Given the description of an element on the screen output the (x, y) to click on. 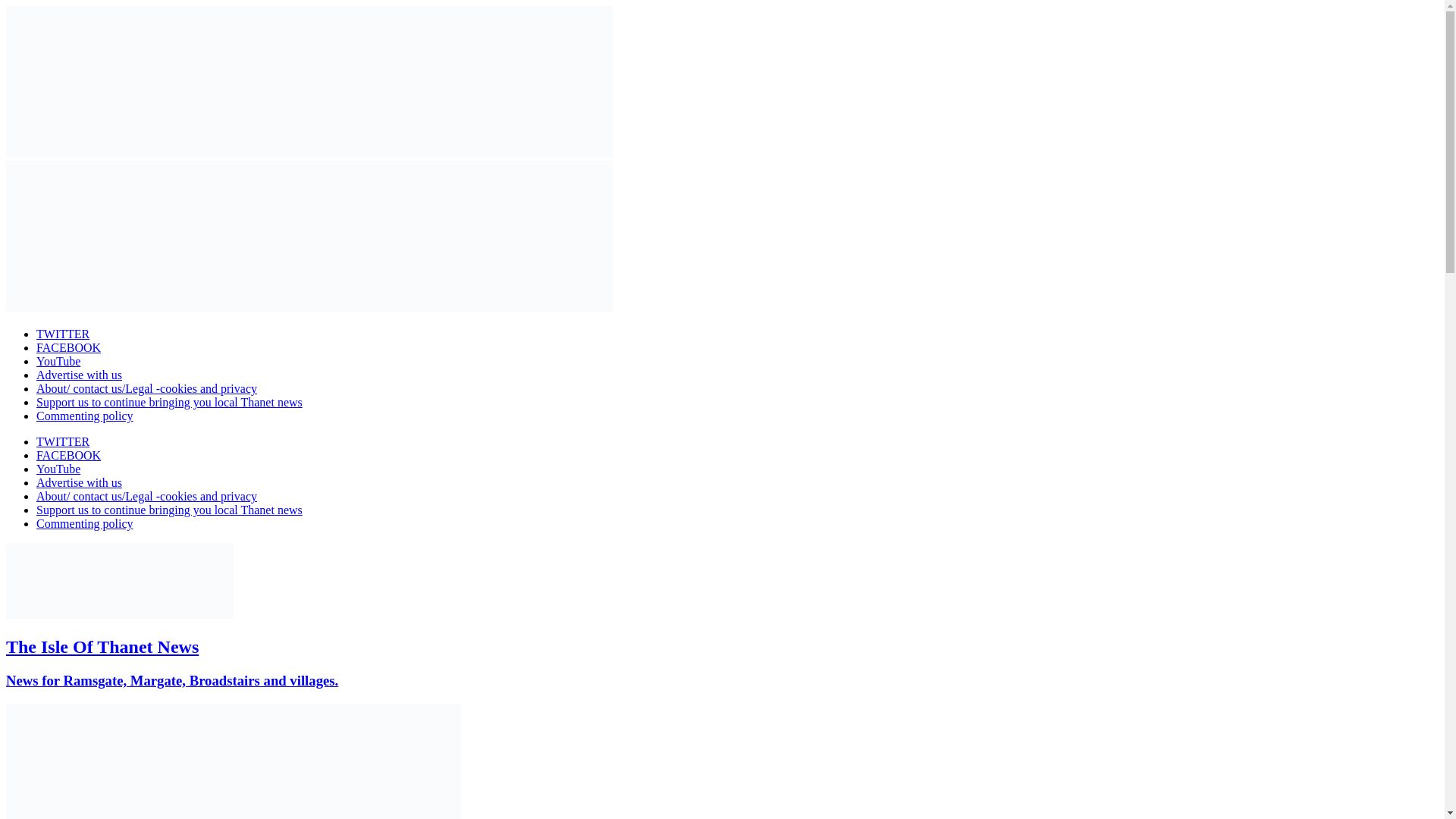
Commenting policy (84, 415)
Commenting policy (84, 522)
Support us to continue bringing you local Thanet news (169, 401)
YouTube (58, 468)
TWITTER (62, 440)
FACEBOOK (68, 347)
YouTube (58, 360)
TWITTER (62, 333)
Support us to continue bringing you local Thanet news (169, 509)
Advertise with us (79, 481)
Advertise with us (79, 374)
FACEBOOK (68, 454)
